Given the description of an element on the screen output the (x, y) to click on. 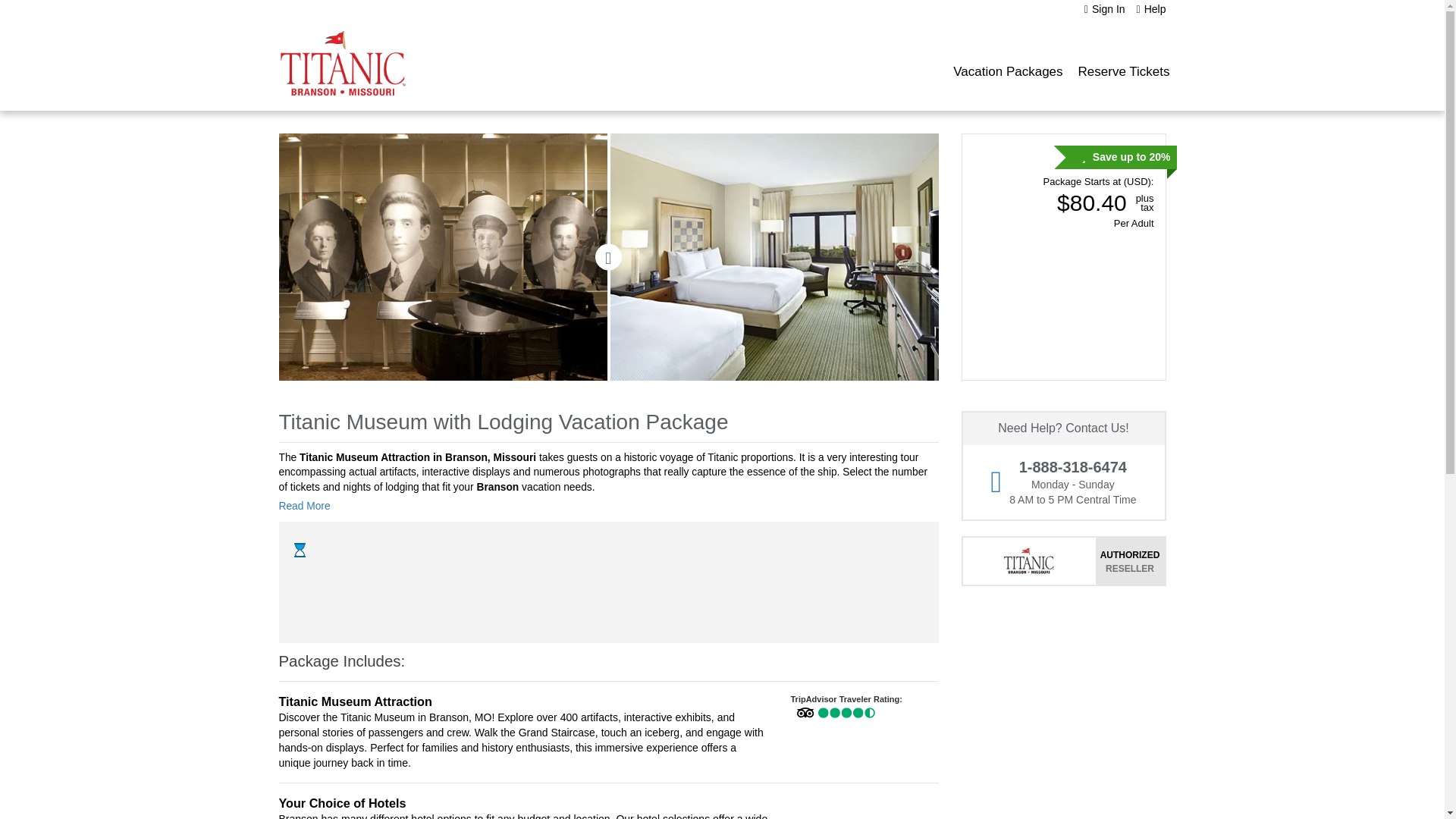
Reserve Tickets (1123, 71)
Help (1151, 9)
Sign In (1104, 9)
Vacation Packages (1007, 71)
Read More (309, 505)
